Given the description of an element on the screen output the (x, y) to click on. 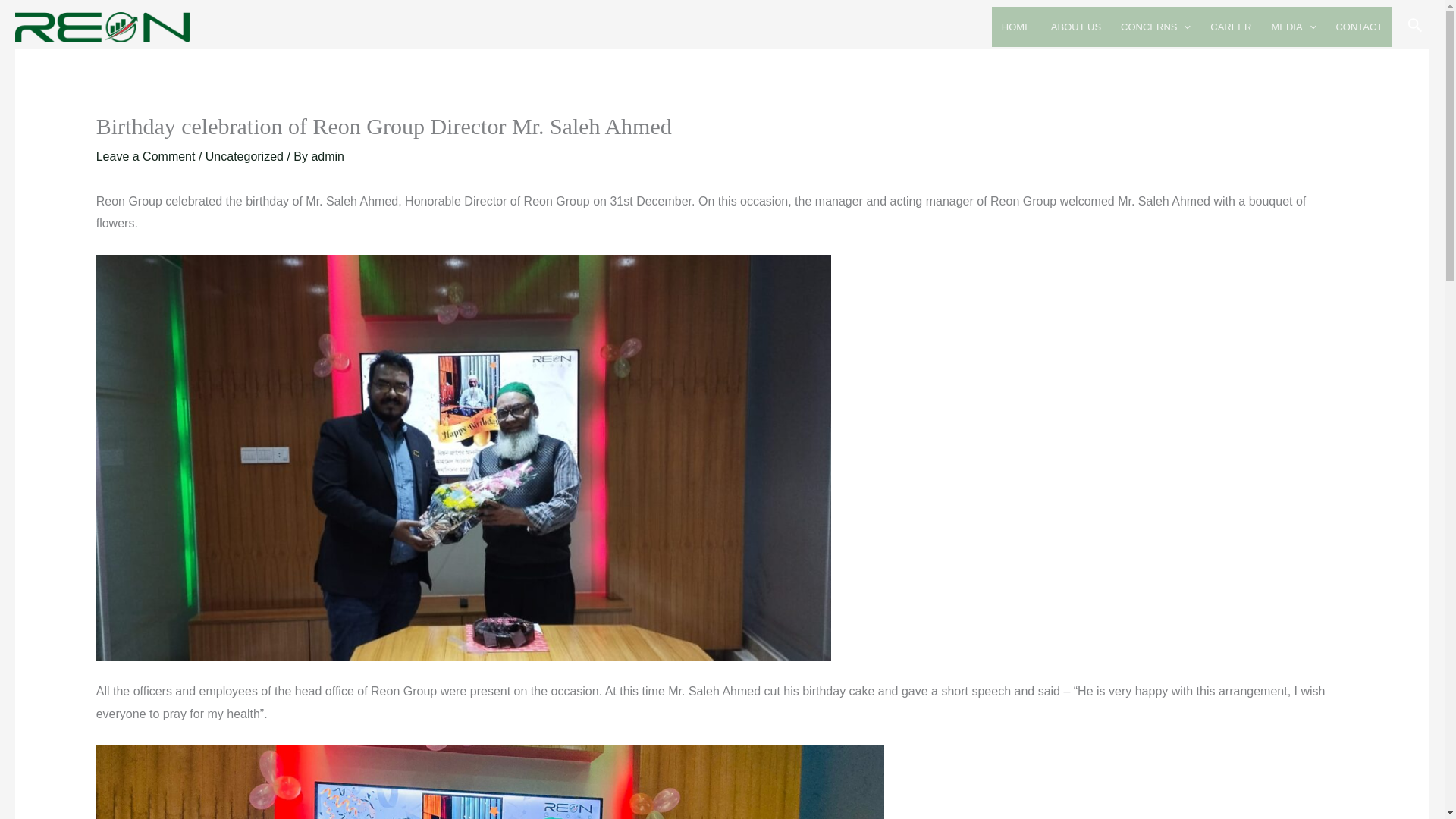
CONTACT (1357, 26)
View all posts by admin (327, 155)
HOME (1016, 26)
CAREER (1229, 26)
ABOUT US (1075, 26)
CONCERNS (1154, 26)
MEDIA (1292, 26)
